Given the description of an element on the screen output the (x, y) to click on. 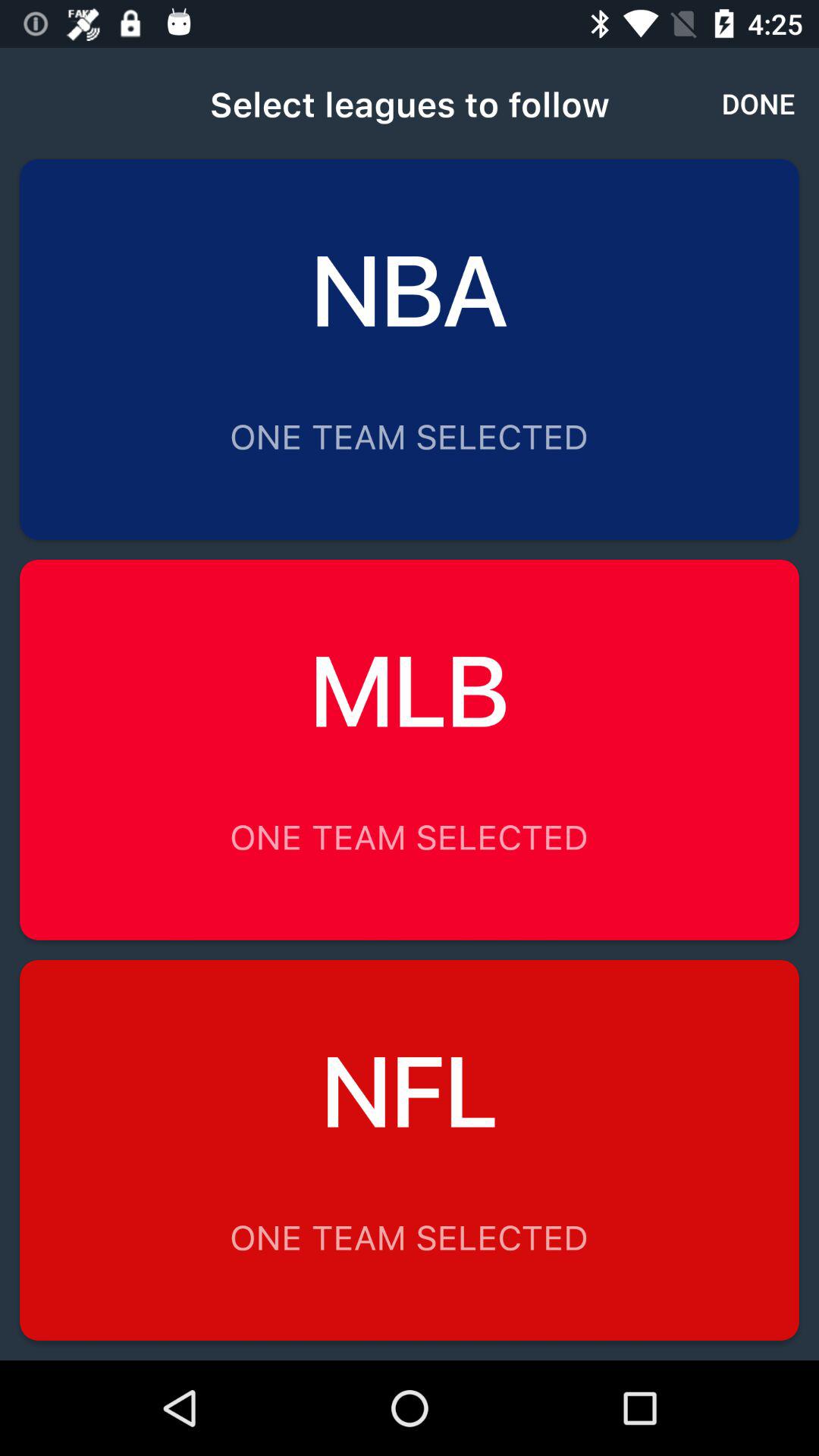
click the icon to the right of select leagues to item (758, 103)
